Given the description of an element on the screen output the (x, y) to click on. 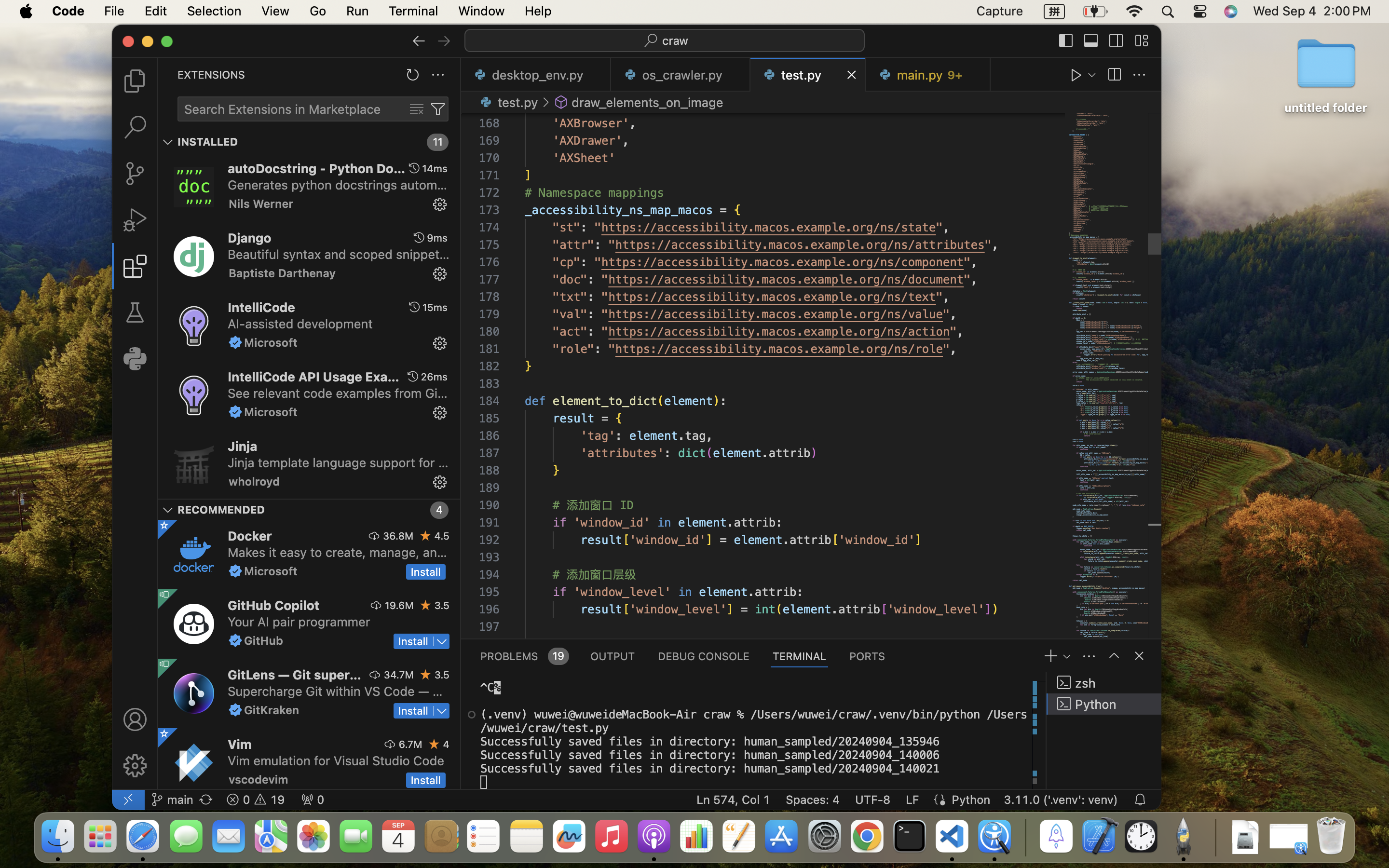
19  0  Element type: AXButton (255, 799)
craw Element type: AXStaticText (675, 40)
26ms Element type: AXStaticText (433, 376)
wholroyd Element type: AXStaticText (254, 481)
 Element type: AXCheckBox (1090, 40)
